Given the description of an element on the screen output the (x, y) to click on. 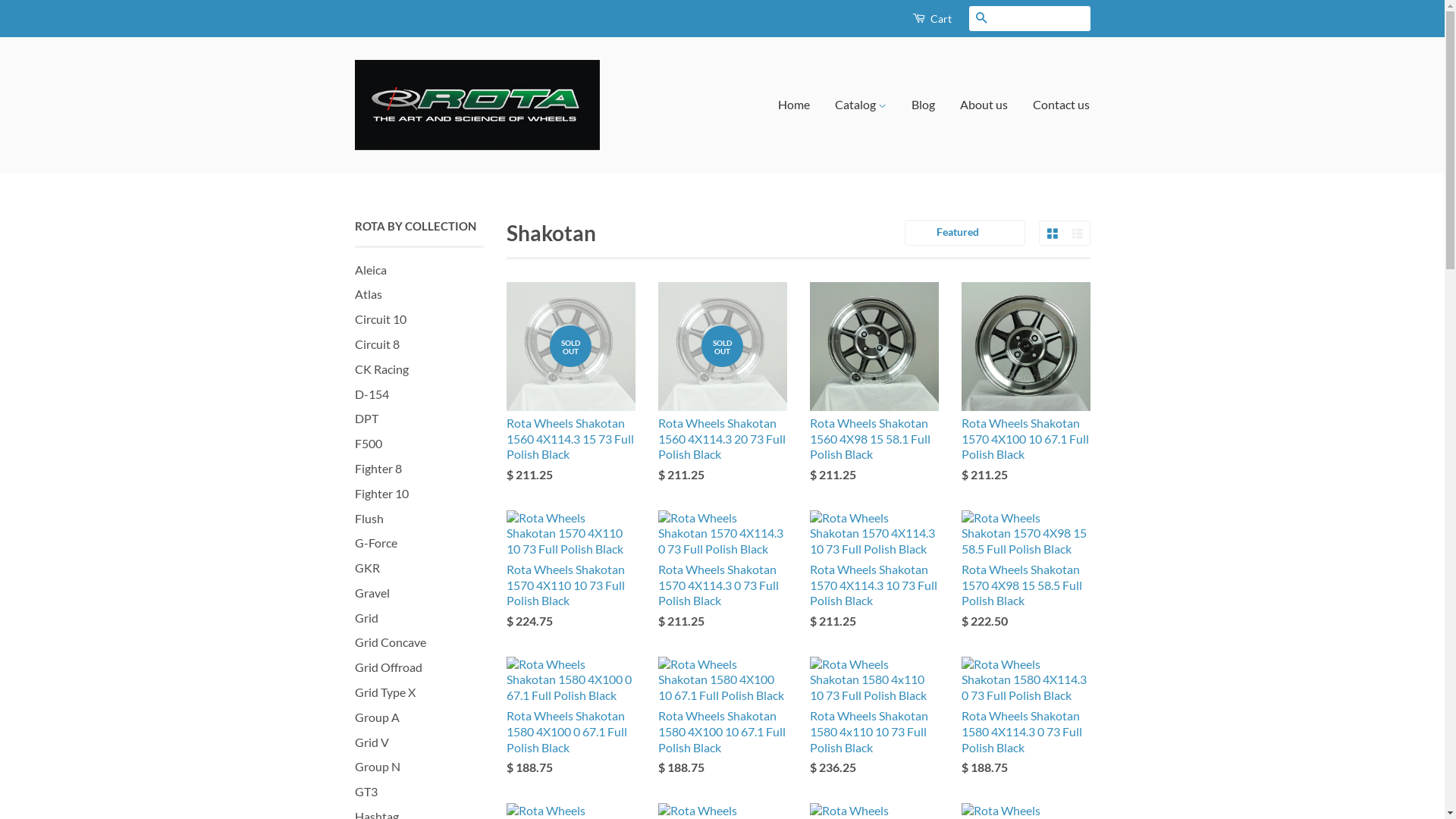
DPT Element type: text (366, 418)
F500 Element type: text (368, 443)
G-Force Element type: text (375, 542)
Circuit 10 Element type: text (380, 318)
Grid Type X Element type: text (384, 691)
Atlas Element type: text (368, 293)
Gravel Element type: text (371, 592)
Cart Element type: text (930, 17)
Search Element type: text (981, 18)
Grid Concave Element type: text (390, 641)
Grid Offroad Element type: text (388, 666)
Fighter 8 Element type: text (377, 468)
About us Element type: text (983, 104)
Contact us Element type: text (1055, 104)
CK Racing Element type: text (381, 368)
Group N Element type: text (377, 766)
Fighter 10 Element type: text (381, 493)
Grid Element type: text (366, 617)
Blog Element type: text (923, 104)
D-154 Element type: text (371, 393)
GKR Element type: text (366, 567)
Catalog Element type: text (860, 104)
GT3 Element type: text (365, 791)
Group A Element type: text (376, 716)
Grid V Element type: text (371, 741)
List View Element type: text (1076, 233)
Home Element type: text (799, 104)
Flush Element type: text (368, 518)
Aleica Element type: text (370, 269)
Grid View Element type: text (1050, 233)
Circuit 8 Element type: text (376, 343)
